Given the description of an element on the screen output the (x, y) to click on. 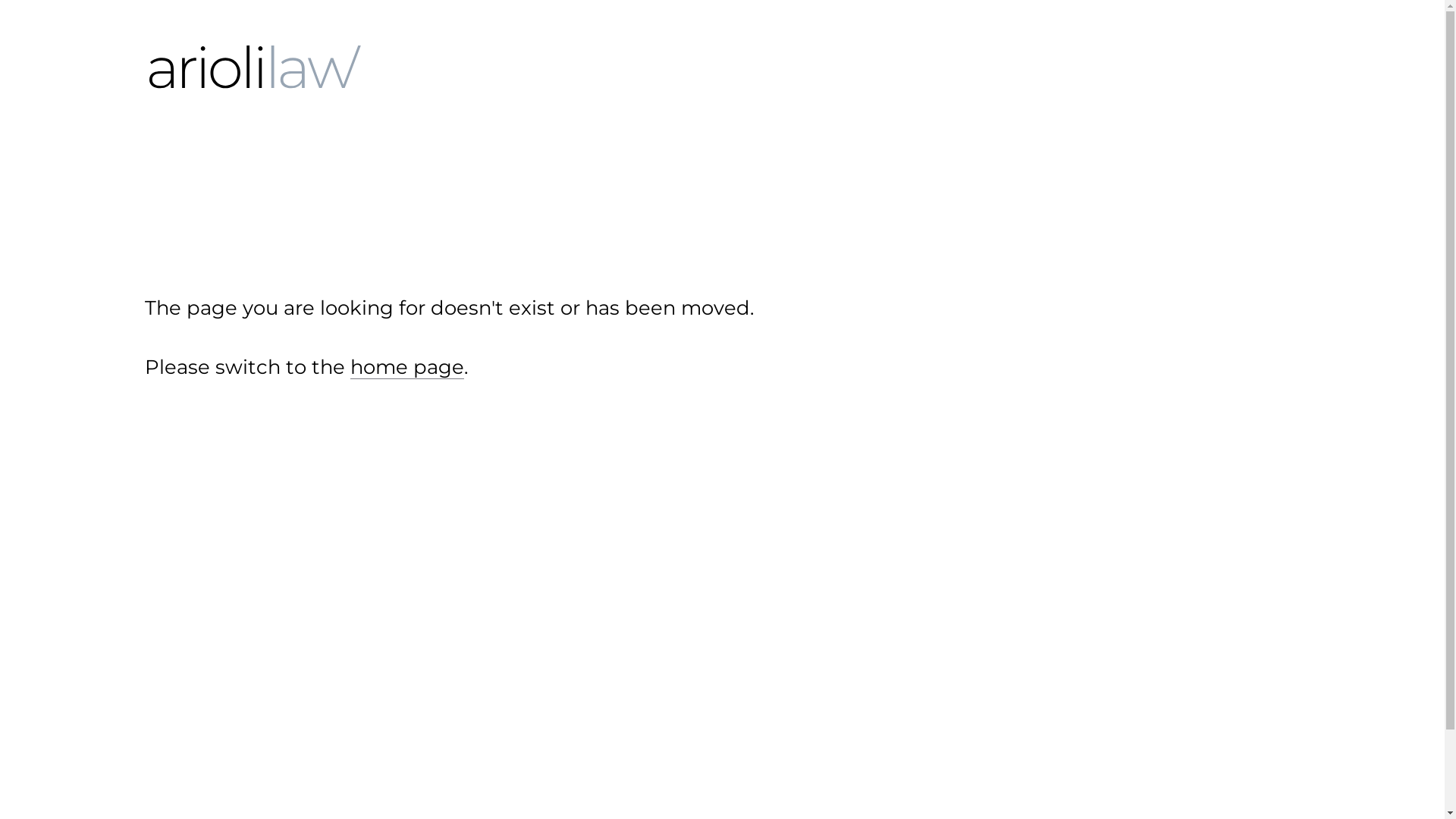
home page Element type: text (407, 366)
Arioli Law Logo
Arioli Law Logo Element type: text (253, 66)
